Given the description of an element on the screen output the (x, y) to click on. 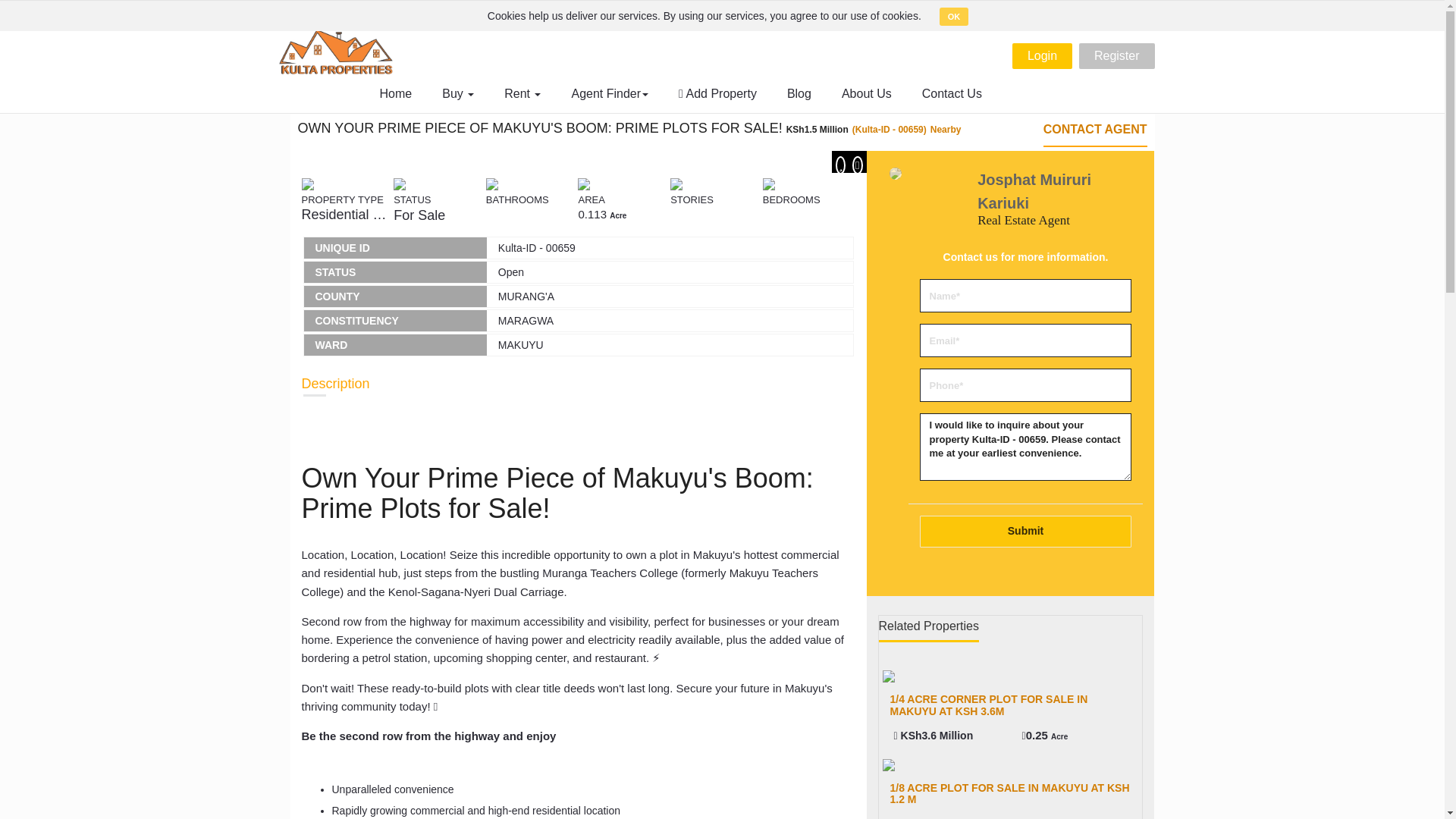
OK (954, 16)
Register (1116, 55)
Rent (522, 94)
Home (396, 94)
Residential Plot (347, 214)
Login (1041, 55)
Buy (457, 94)
Enter property id or Project id start with p to search (767, 10)
Submit (1024, 531)
